Given the description of an element on the screen output the (x, y) to click on. 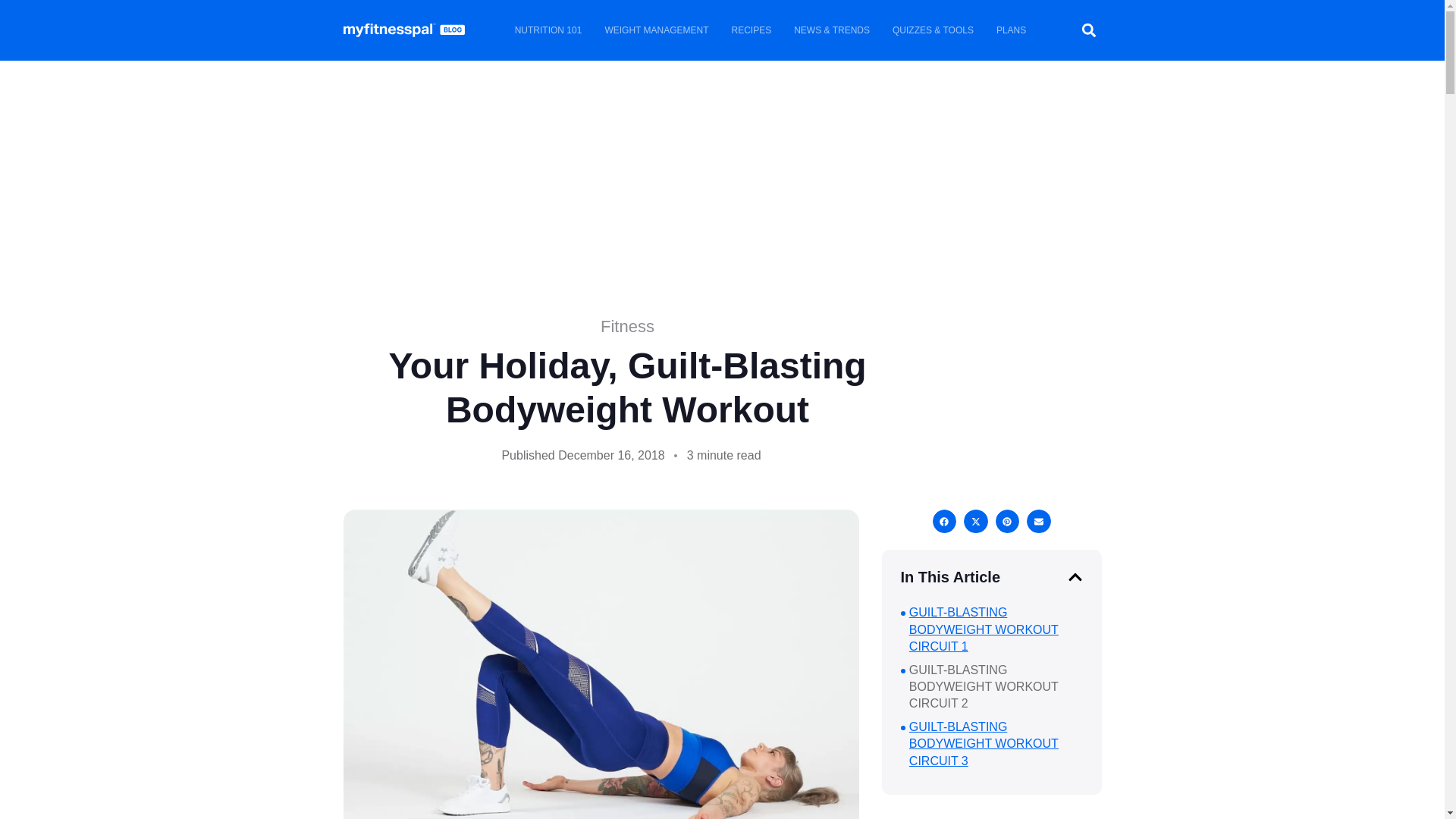
RECIPES (751, 30)
NUTRITION 101 (548, 30)
WEIGHT MANAGEMENT (655, 30)
